Given the description of an element on the screen output the (x, y) to click on. 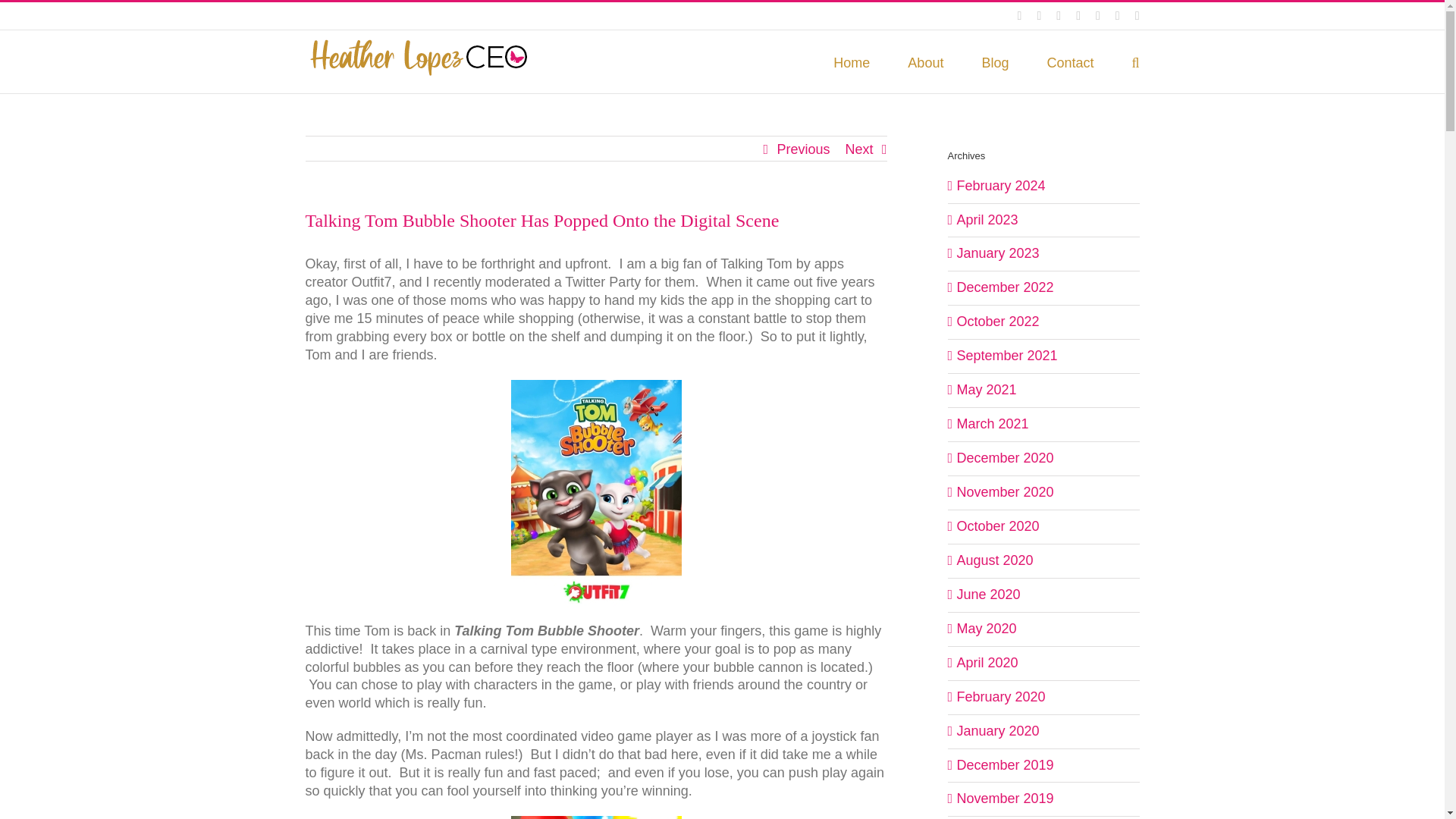
Previous (802, 149)
Next (858, 149)
